Given the description of an element on the screen output the (x, y) to click on. 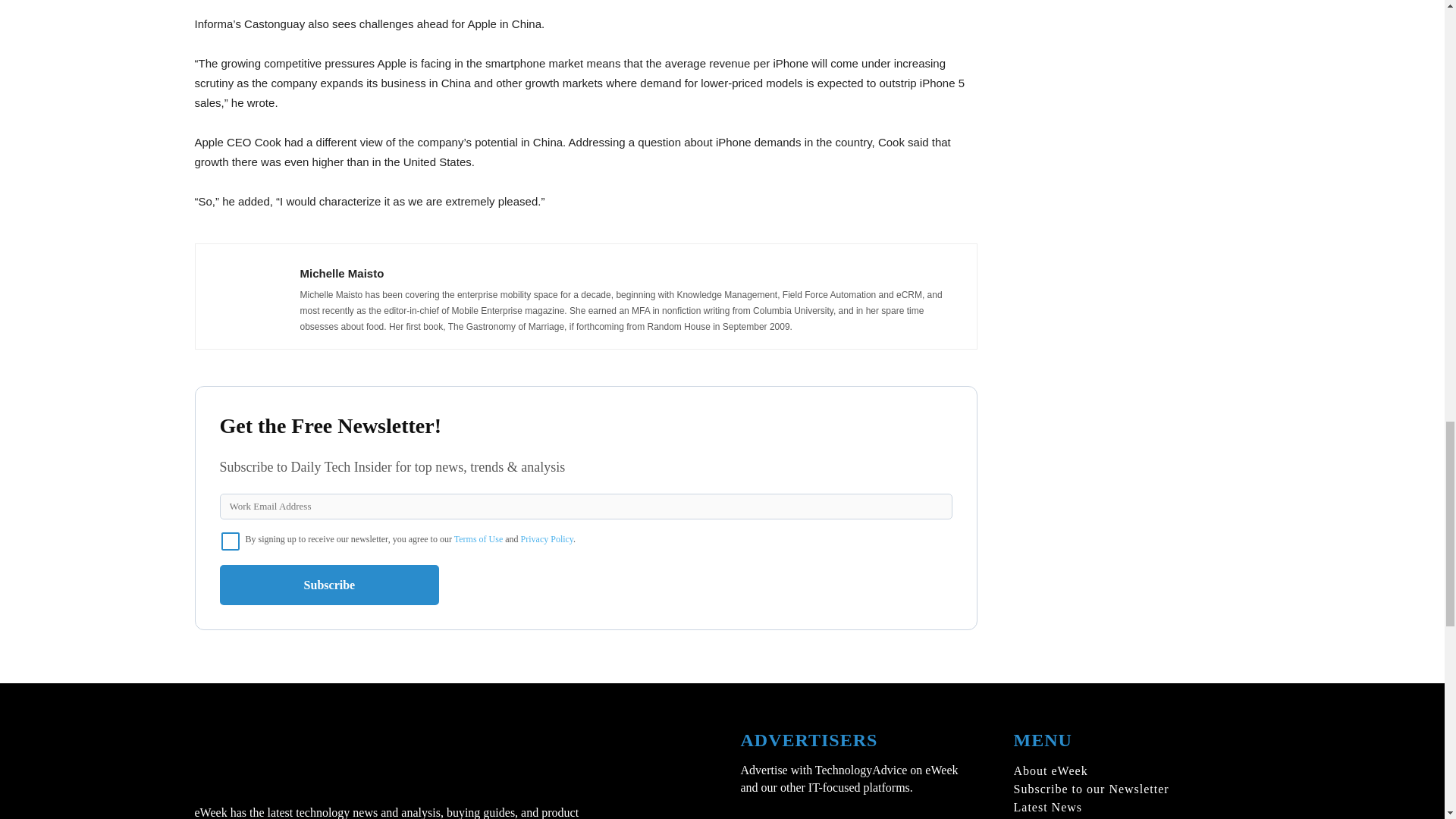
on (230, 541)
